Given the description of an element on the screen output the (x, y) to click on. 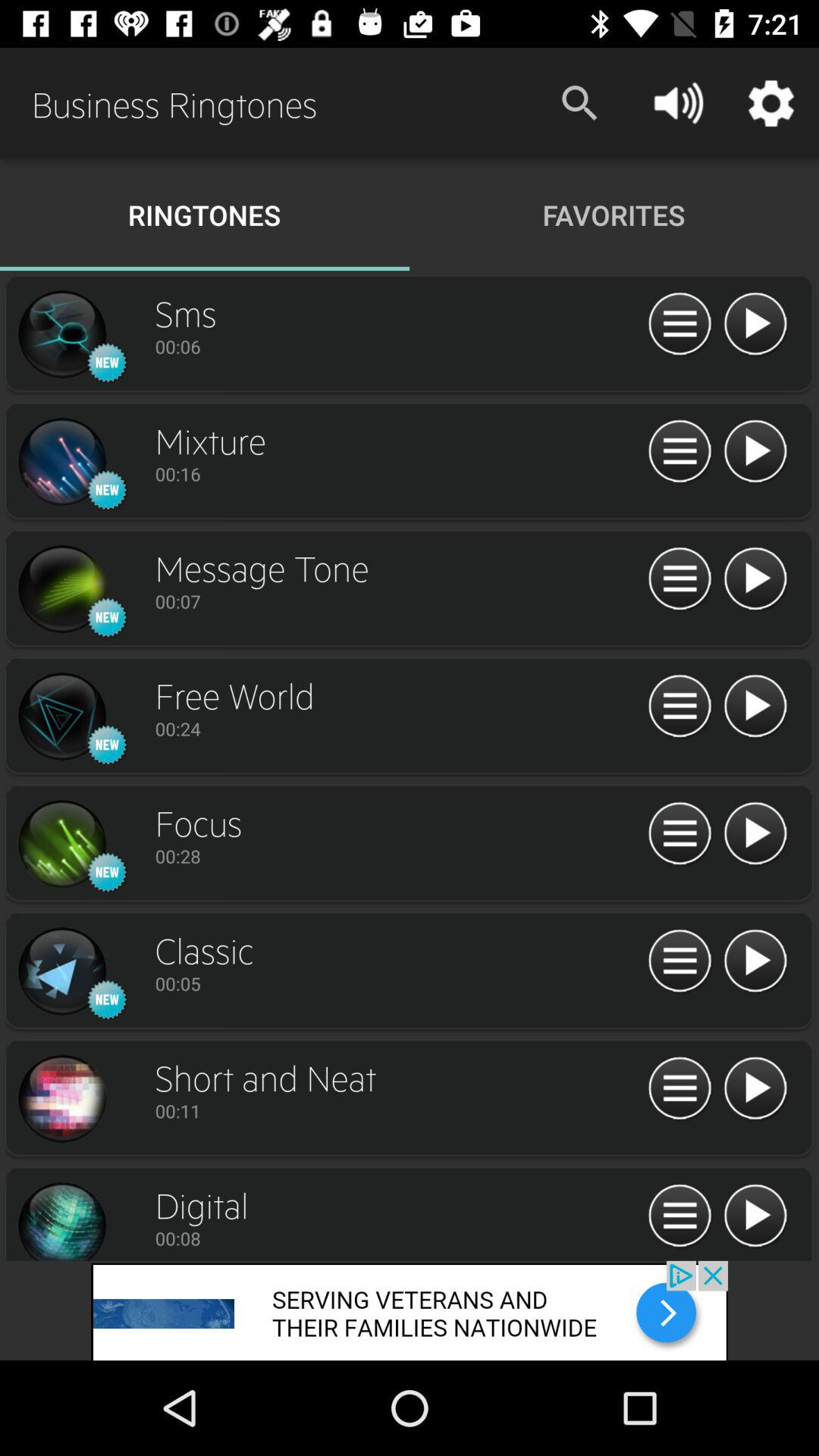
to play the ringtone (755, 961)
